Given the description of an element on the screen output the (x, y) to click on. 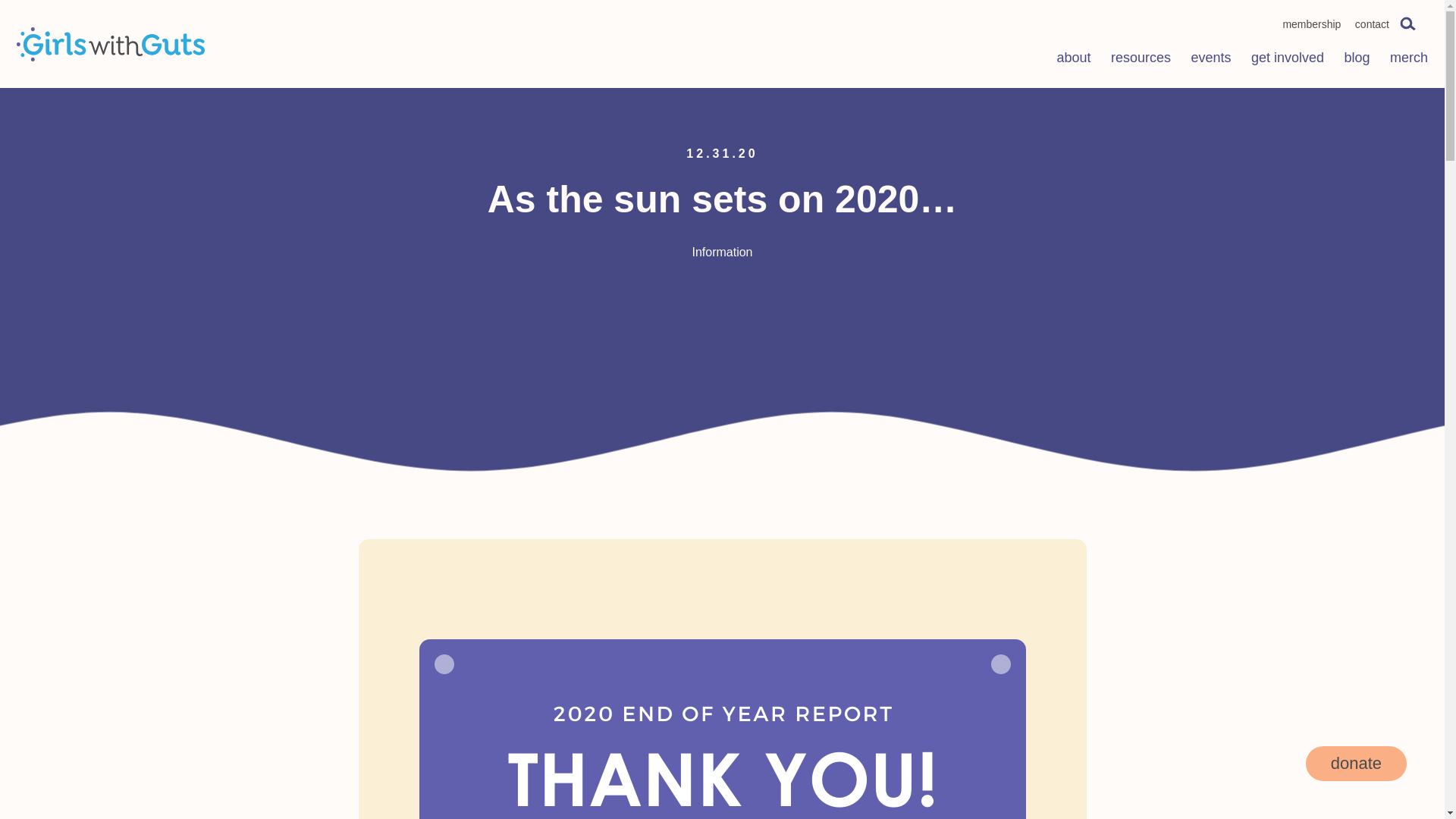
about (1073, 60)
membership (1311, 24)
contact (1372, 24)
resources (1140, 60)
